Given the description of an element on the screen output the (x, y) to click on. 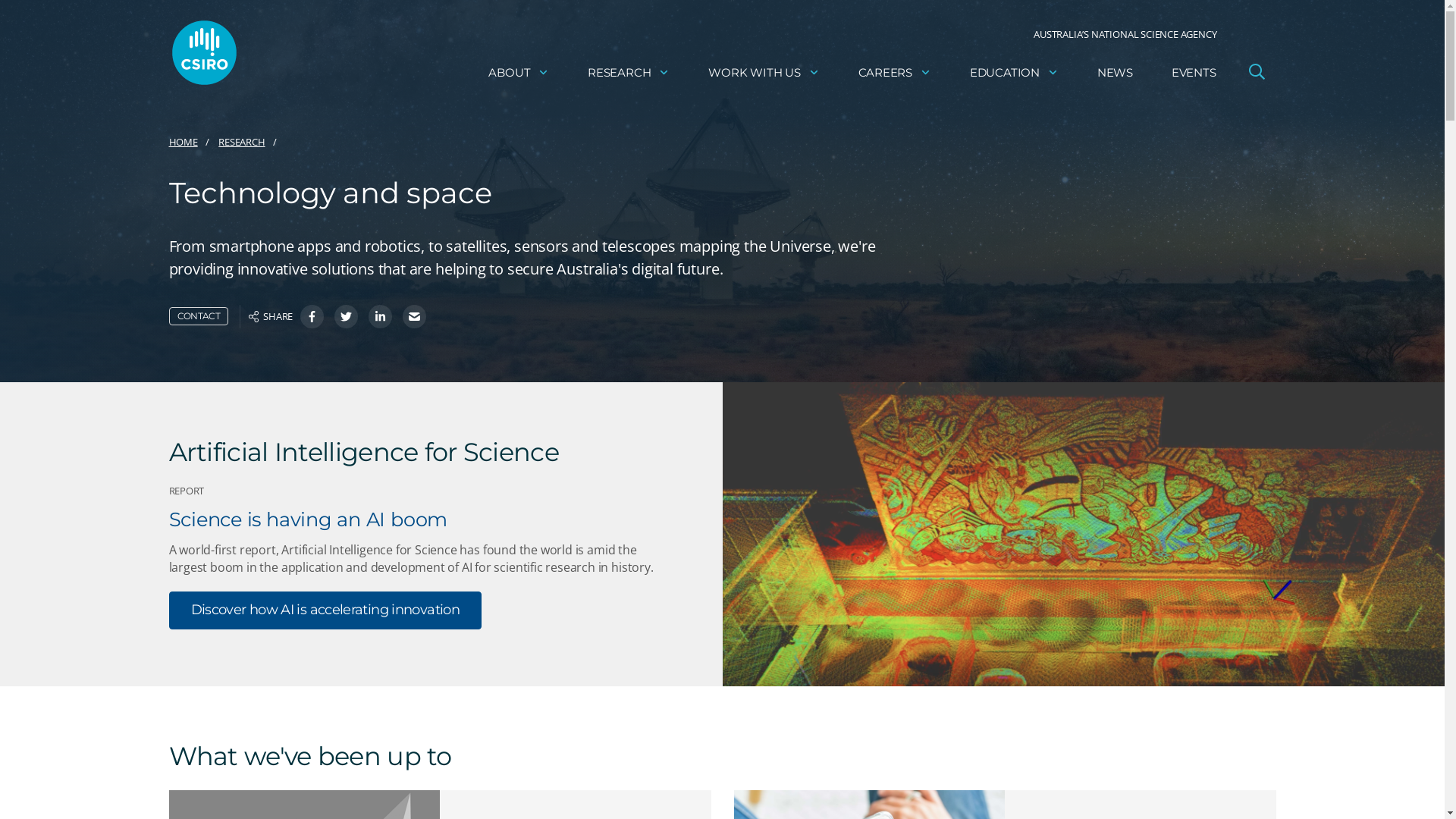
CAREERS Element type: text (894, 72)
CONTACT Element type: text (198, 316)
NEWS Element type: text (1114, 72)
EDUCATION Element type: text (1013, 72)
RESEARCH Element type: text (241, 141)
RESEARCH Element type: text (628, 72)
EVENTS Element type: text (1193, 72)
WORK WITH US Element type: text (763, 72)
Discover how AI is accelerating innovation Element type: text (324, 610)
ABOUT Element type: text (518, 72)
HOME Element type: text (182, 141)
